Given the description of an element on the screen output the (x, y) to click on. 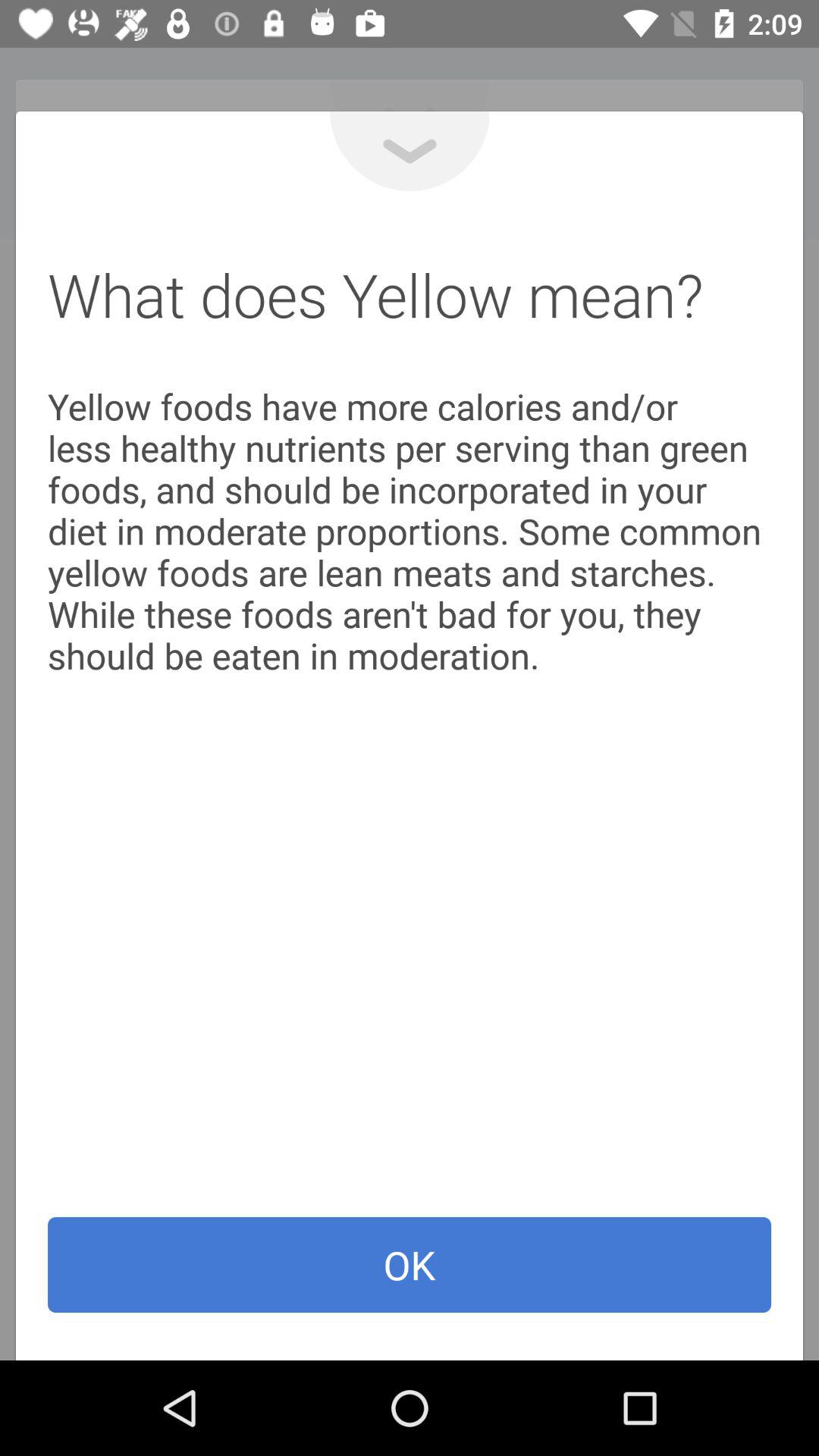
drop down tab (409, 151)
